Given the description of an element on the screen output the (x, y) to click on. 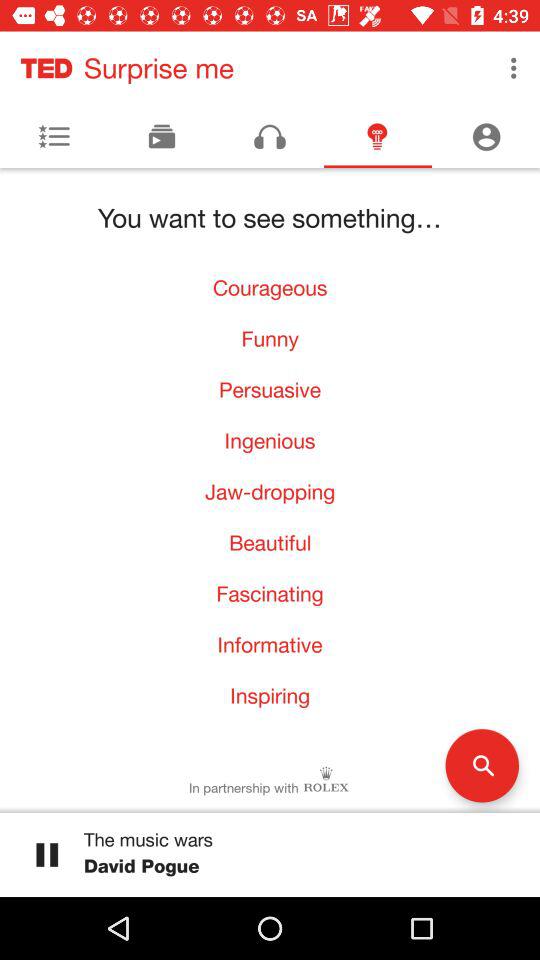
swipe to inspiring icon (270, 695)
